Given the description of an element on the screen output the (x, y) to click on. 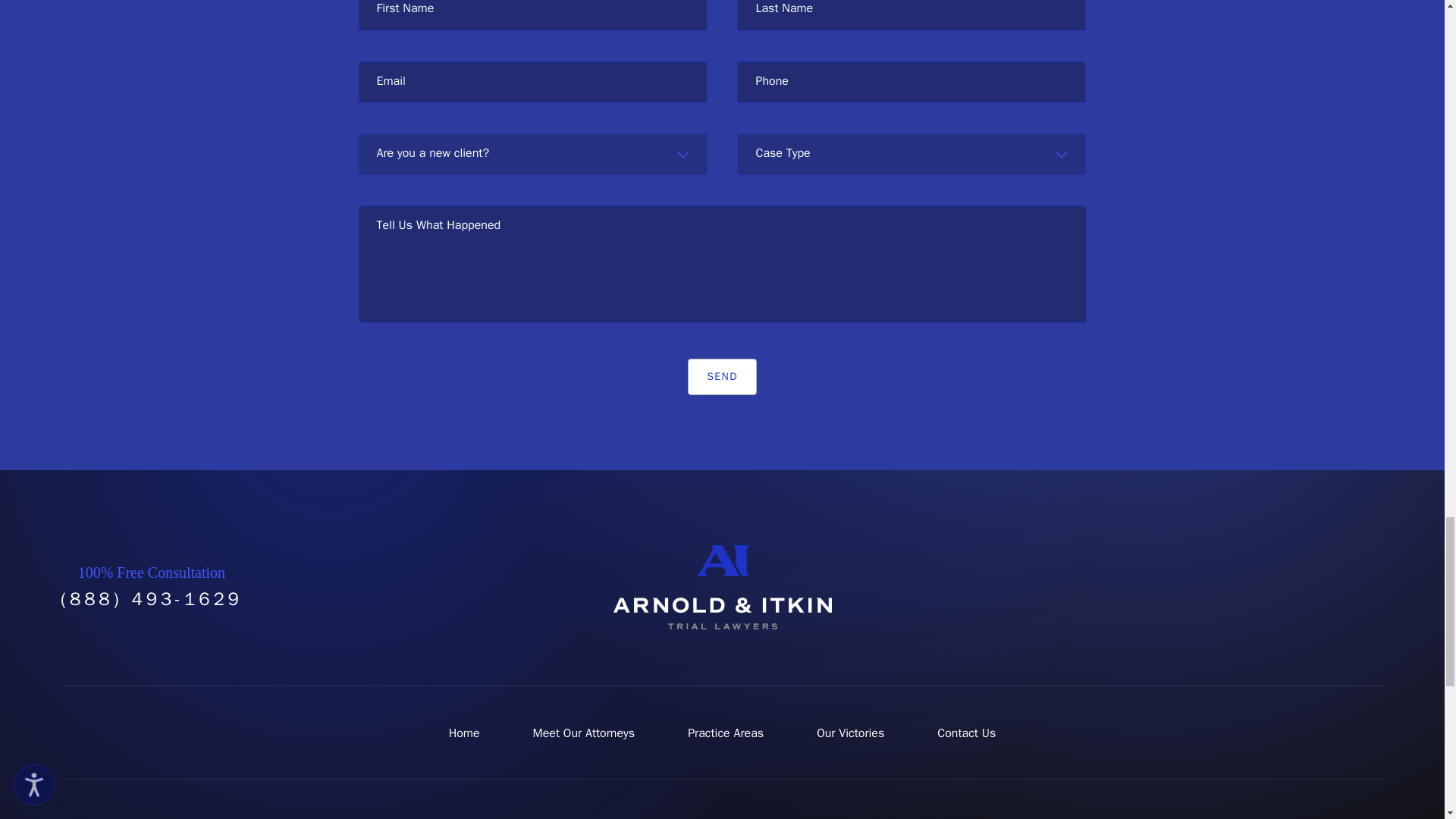
Twitter (1261, 586)
Facebook (1227, 586)
LinkedIn (1366, 586)
Instagram (1331, 586)
YouTube (1296, 586)
